Given the description of an element on the screen output the (x, y) to click on. 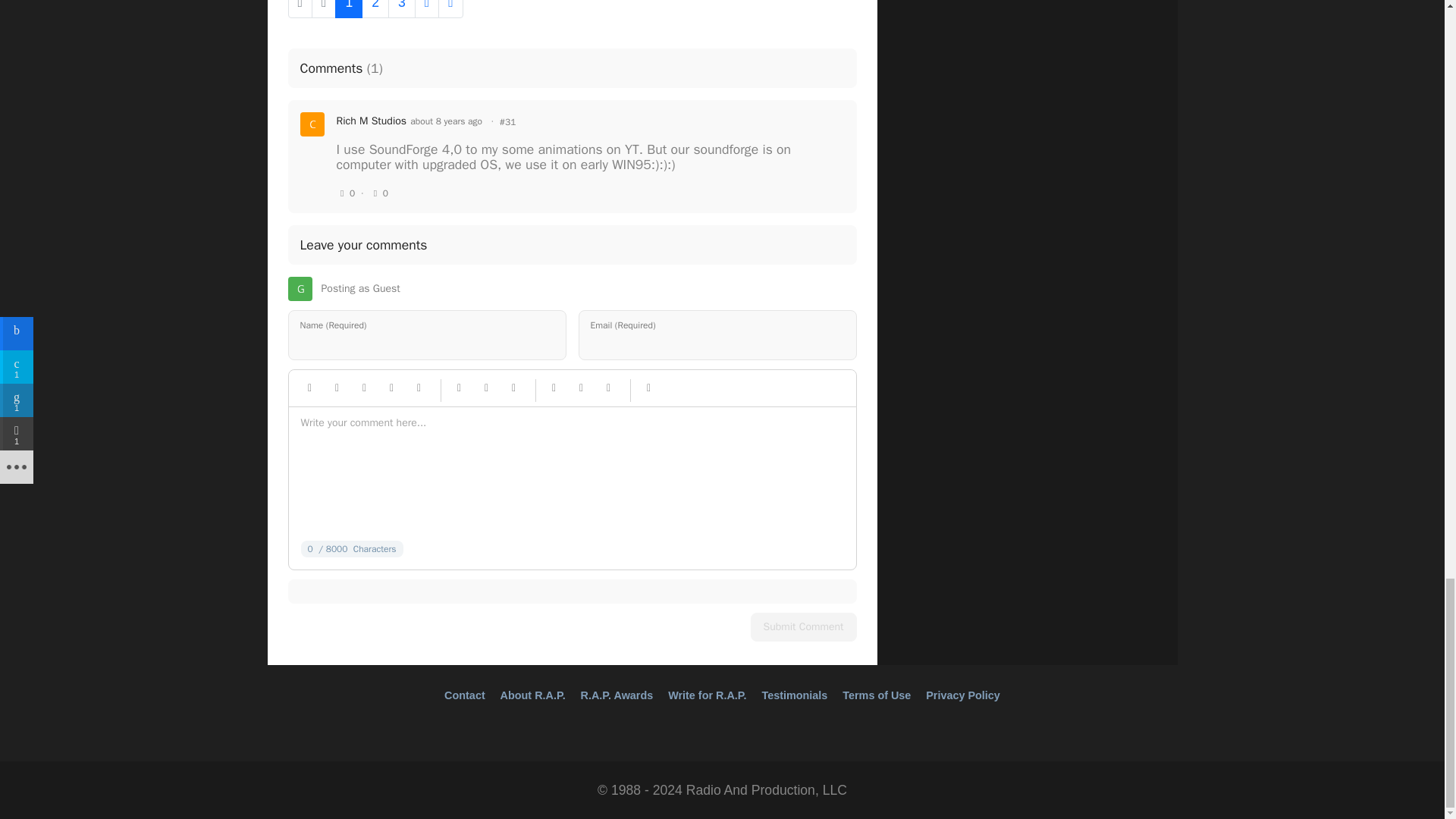
0 (345, 192)
Quote (390, 388)
Link (458, 388)
2 (374, 8)
3 (401, 8)
0 (378, 192)
Rich M Studios (371, 120)
Emoji (418, 388)
1 (348, 8)
Picture (486, 388)
Italic (336, 388)
Underline (363, 388)
Permalink (507, 121)
Bold (308, 388)
Rich M Studios (371, 120)
